Given the description of an element on the screen output the (x, y) to click on. 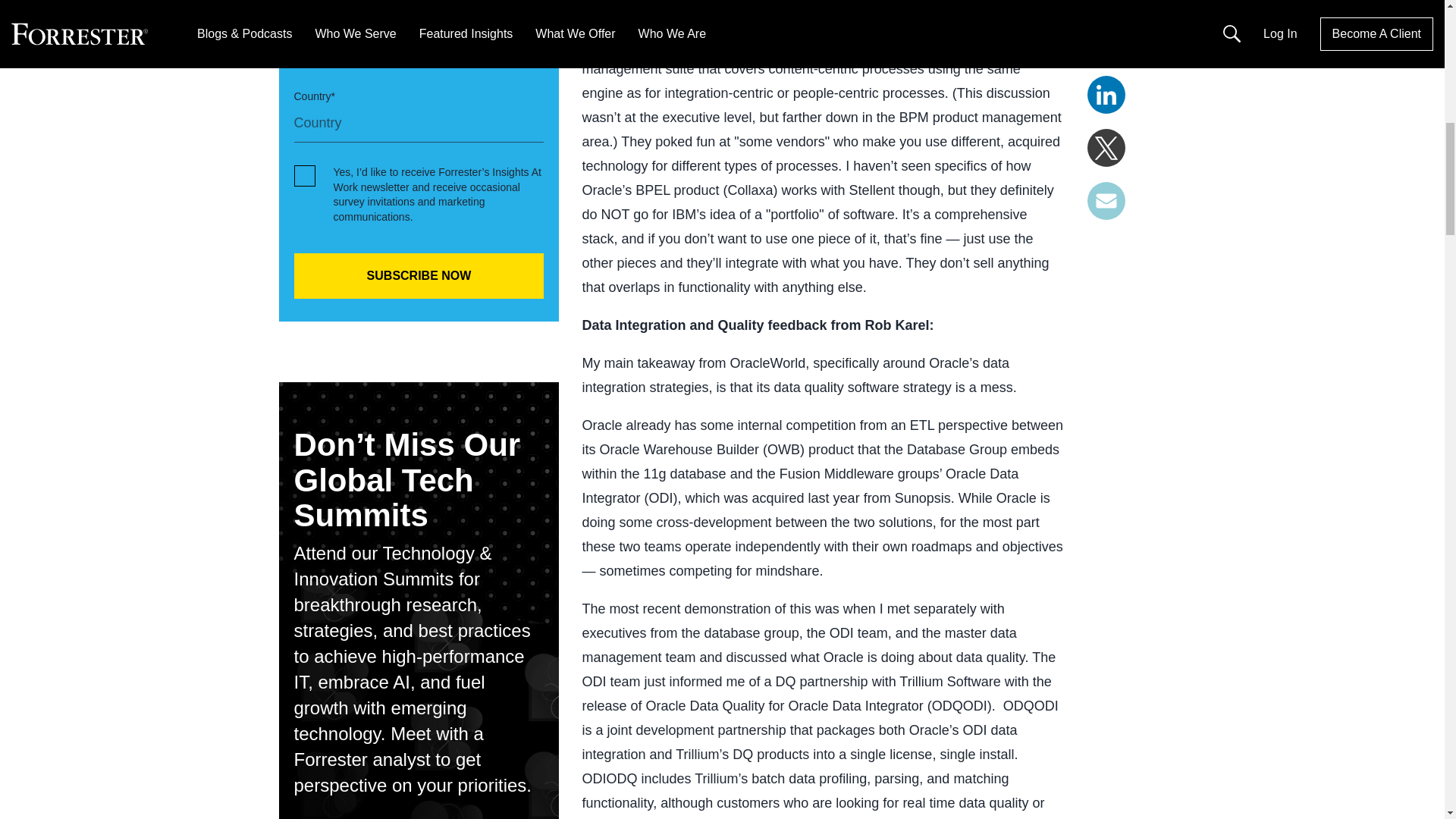
Subscribe Now (419, 275)
